Given the description of an element on the screen output the (x, y) to click on. 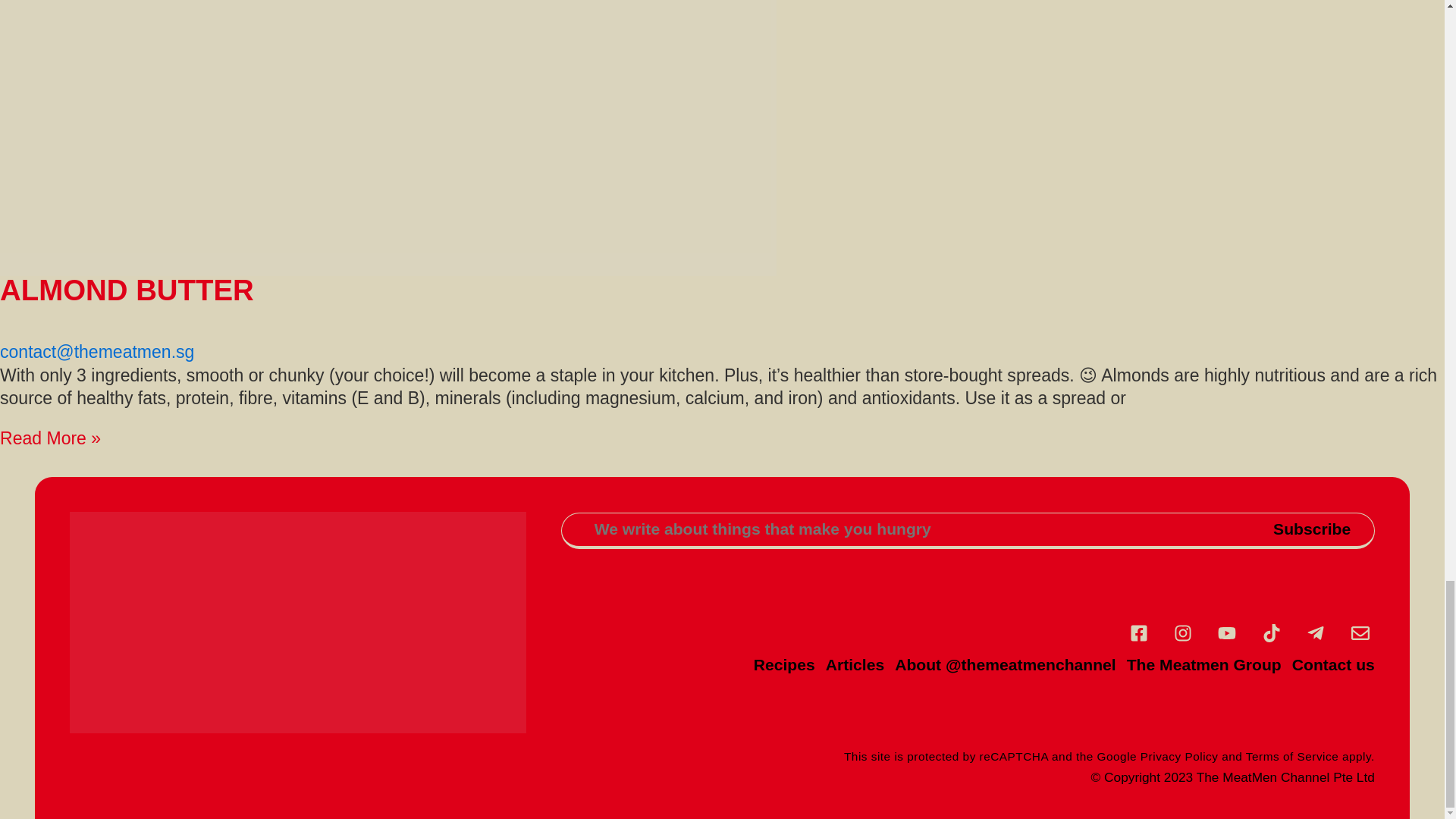
ALMOND BUTTER (126, 289)
Recipes (784, 664)
Articles (854, 664)
Telegram-plane (1315, 633)
Tiktok (1271, 633)
Subscribe (1311, 530)
Envelope (1359, 633)
Facebook-square (1138, 633)
Instagram (1182, 633)
The Meatmen Group (1203, 664)
Contact us (1333, 664)
Youtube (1226, 633)
